Given the description of an element on the screen output the (x, y) to click on. 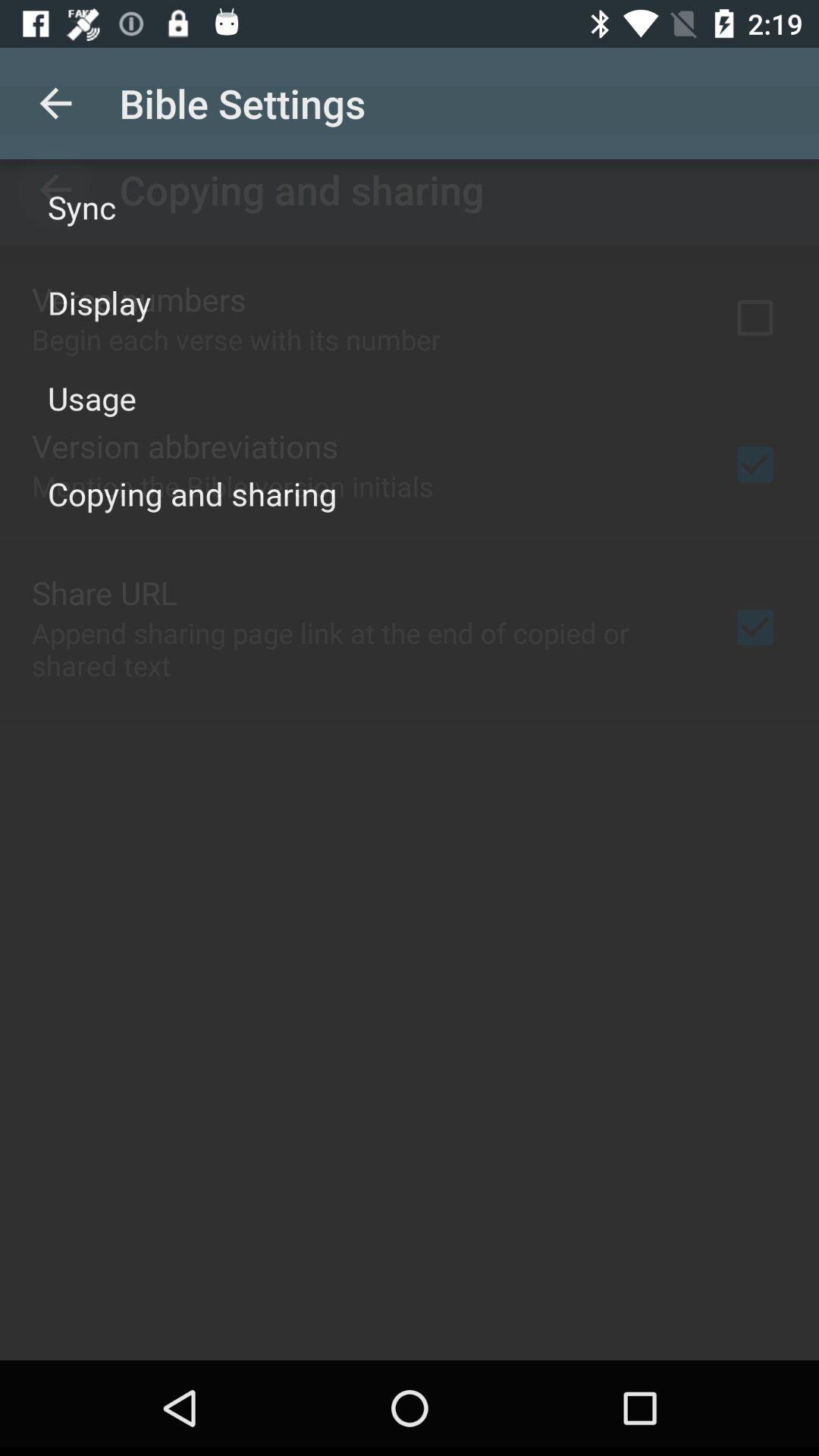
press usage item (91, 397)
